Given the description of an element on the screen output the (x, y) to click on. 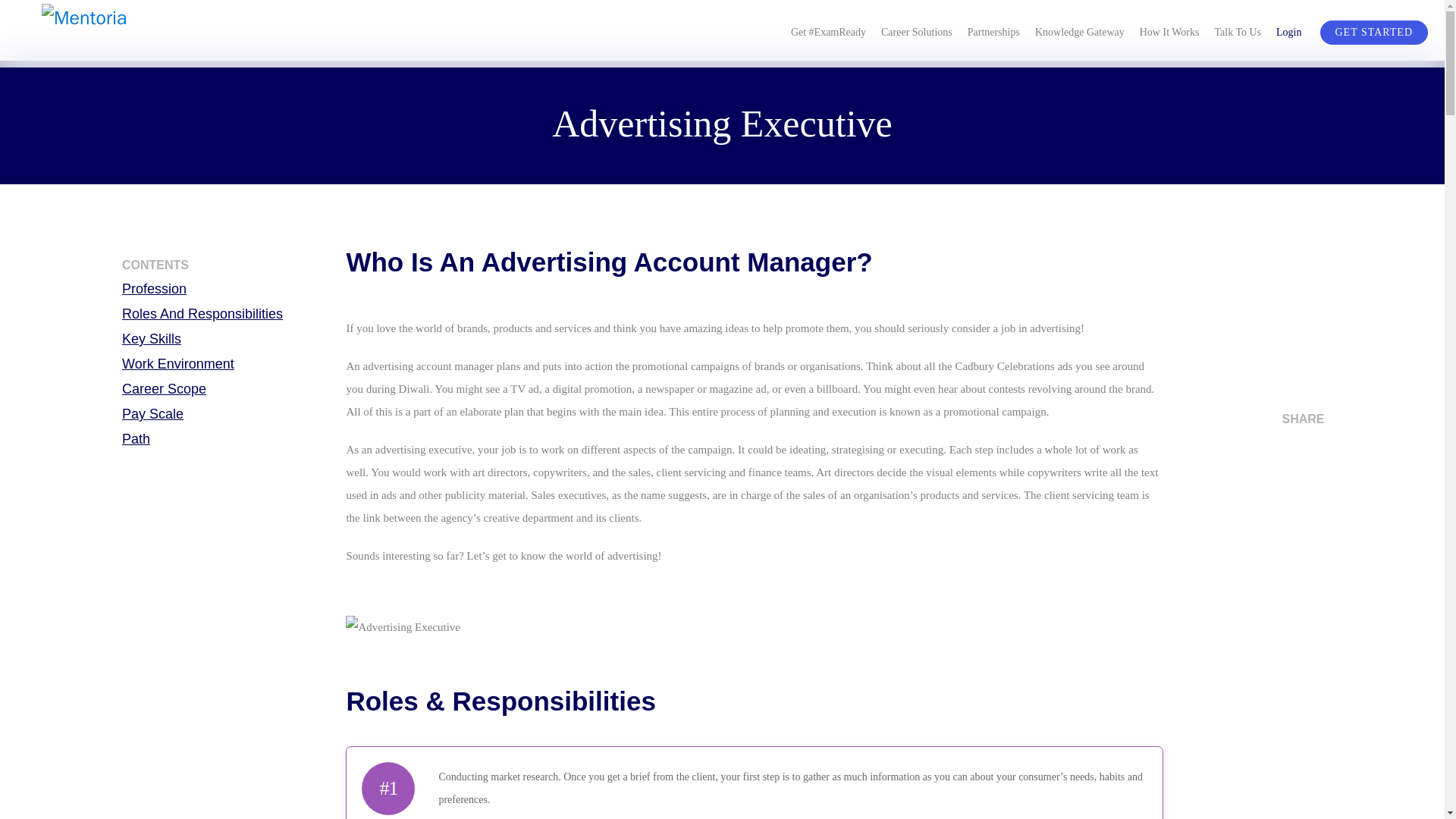
Work Environment (228, 363)
Profession (228, 288)
Roles And Responsibilities (228, 313)
Key Skills (228, 338)
Mentoria (123, 34)
Career Solutions (916, 30)
Pay Scale (228, 413)
Career Scope (228, 388)
Path (228, 438)
